Given the description of an element on the screen output the (x, y) to click on. 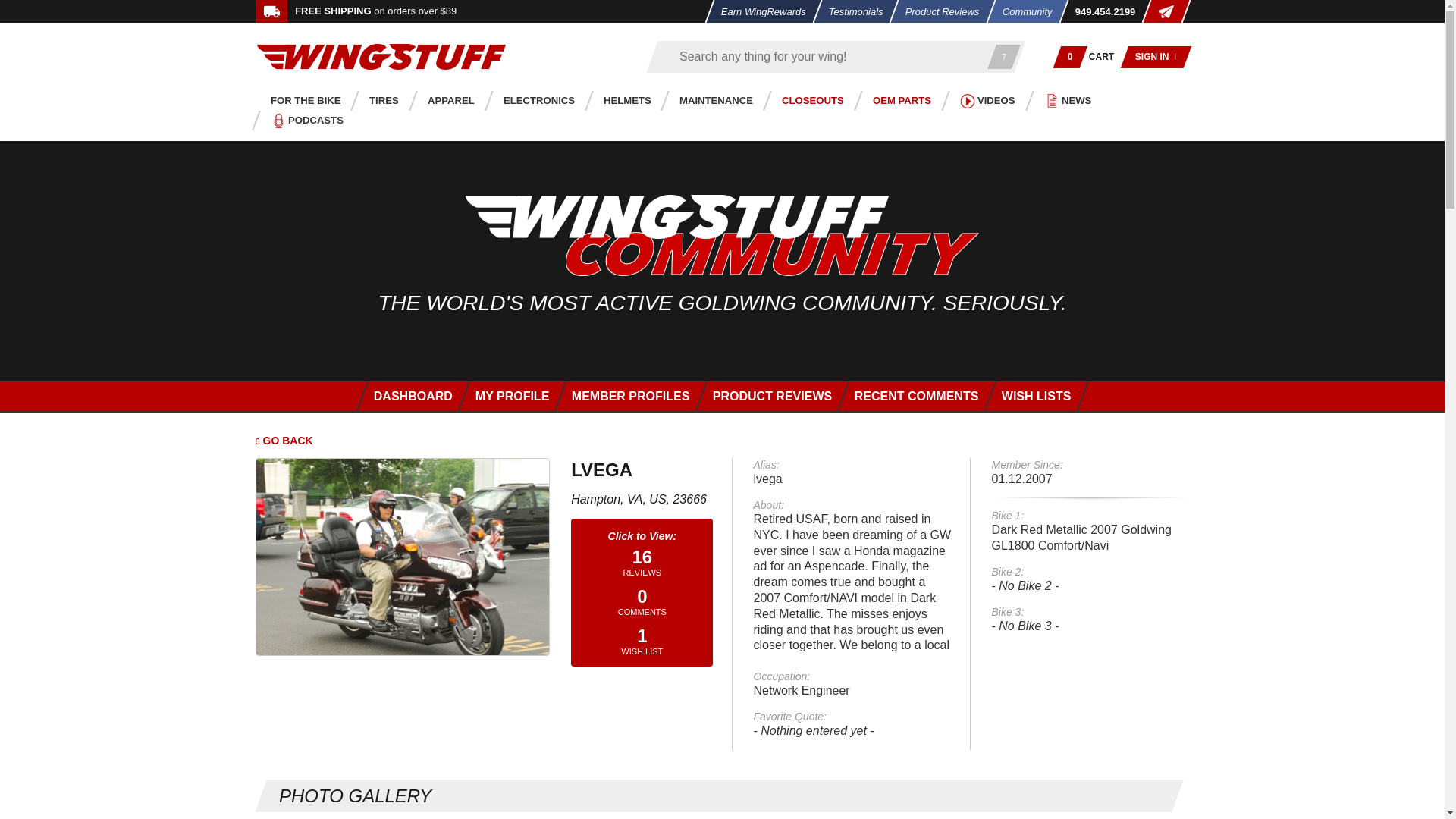
949.454.2199 (1099, 11)
CART (1101, 56)
Product Reviews (938, 11)
Earn WingRewards (758, 11)
Login to edit your member profile (506, 396)
Community (1021, 11)
FOR THE BIKE (300, 100)
WingStuff Community (721, 235)
Testimonials (850, 11)
